Given the description of an element on the screen output the (x, y) to click on. 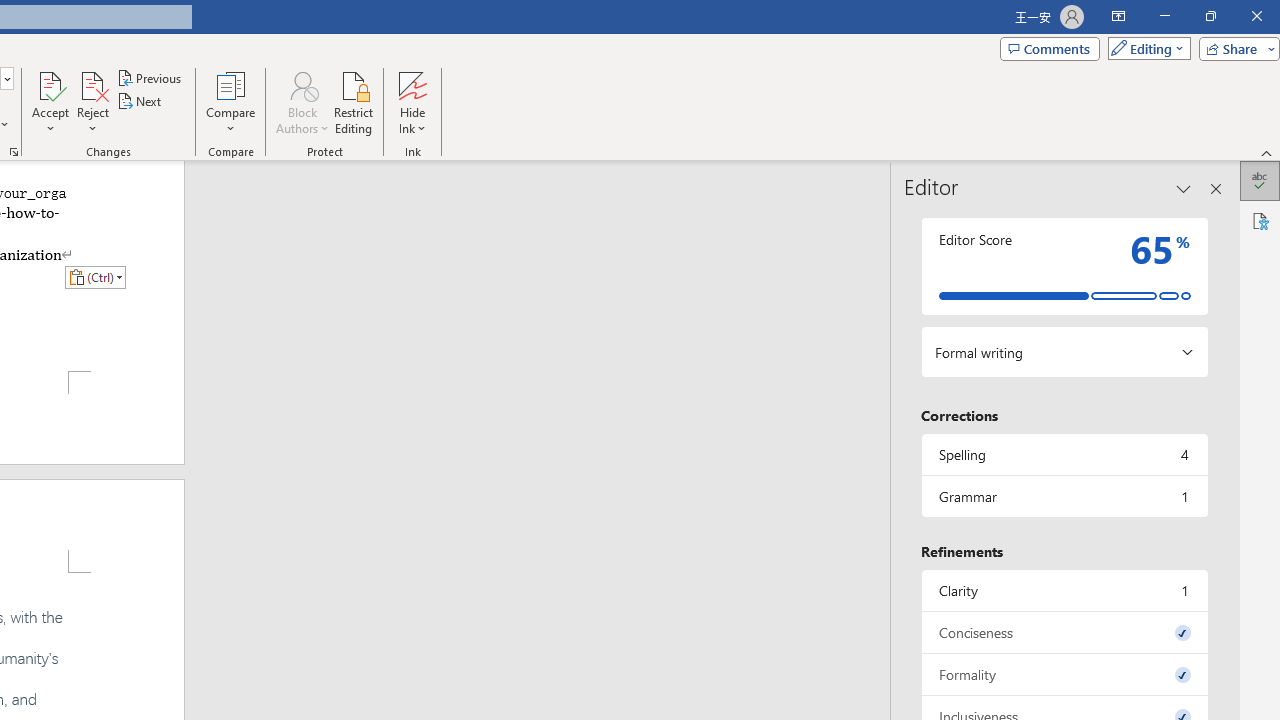
Reject and Move to Next (92, 84)
Restrict Editing (353, 102)
Hide Ink (412, 84)
